Given the description of an element on the screen output the (x, y) to click on. 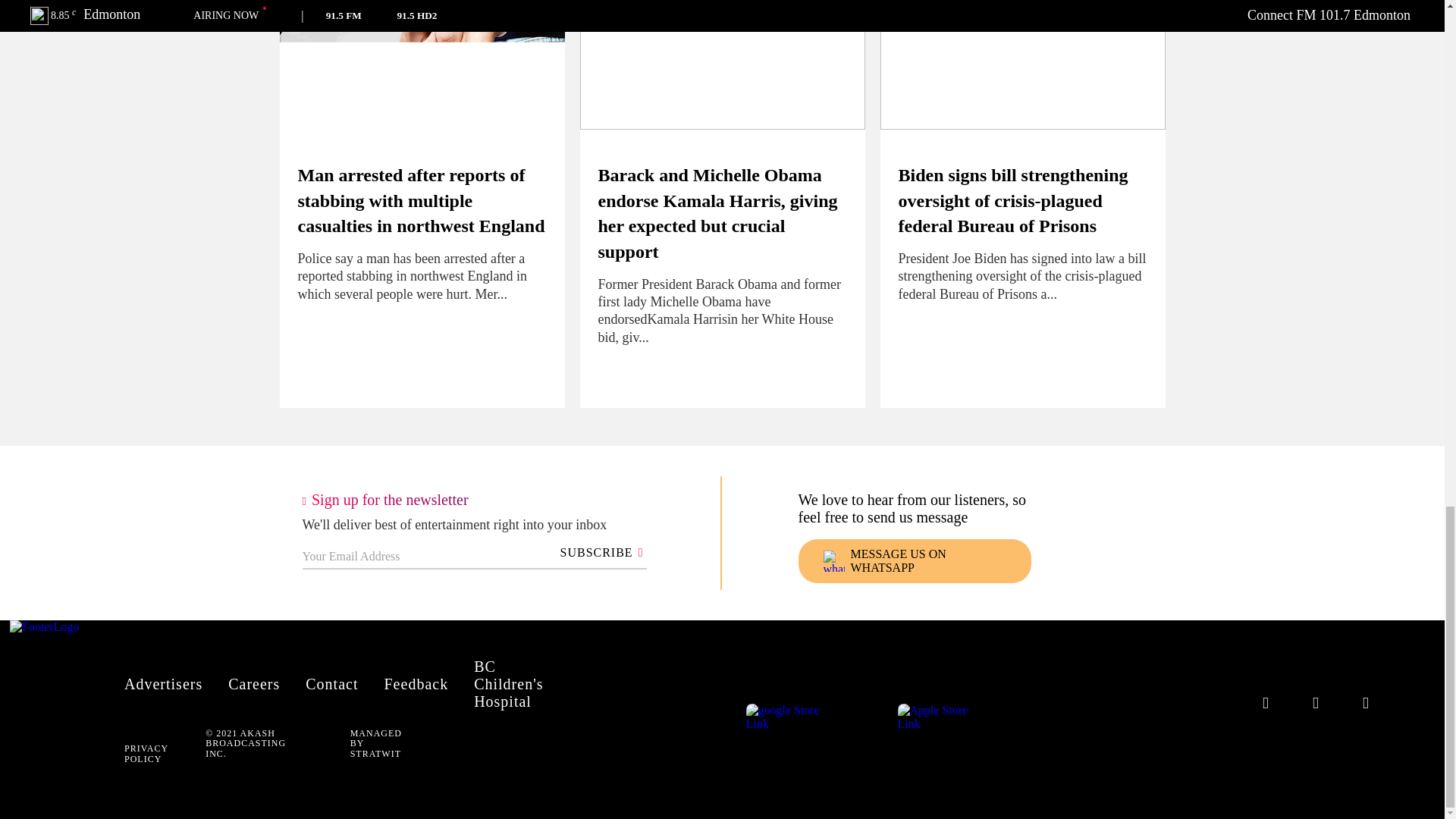
SUBSCRIBE (599, 552)
